Given the description of an element on the screen output the (x, y) to click on. 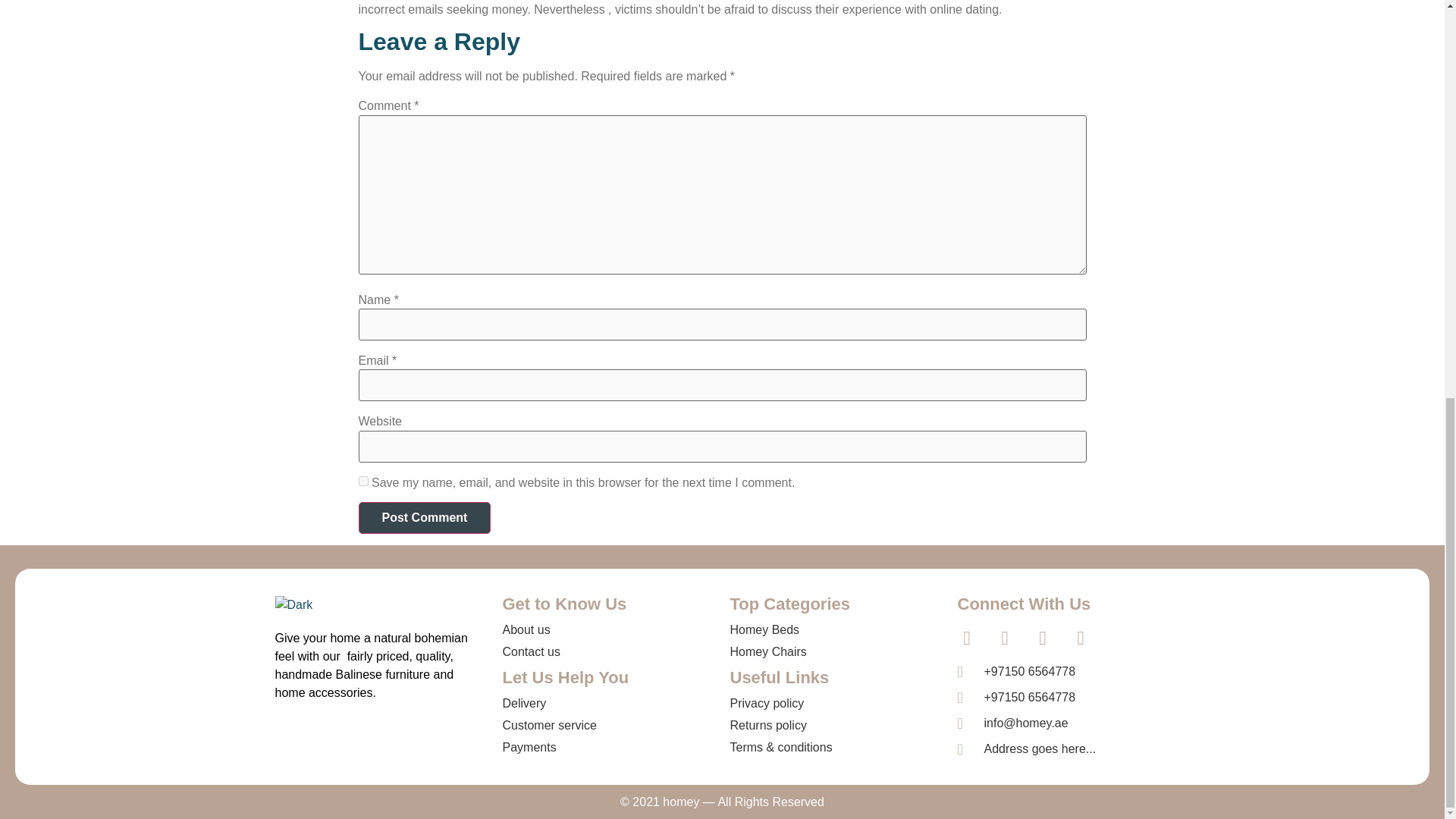
yes (363, 480)
Post Comment (424, 517)
Dark (294, 605)
